Given the description of an element on the screen output the (x, y) to click on. 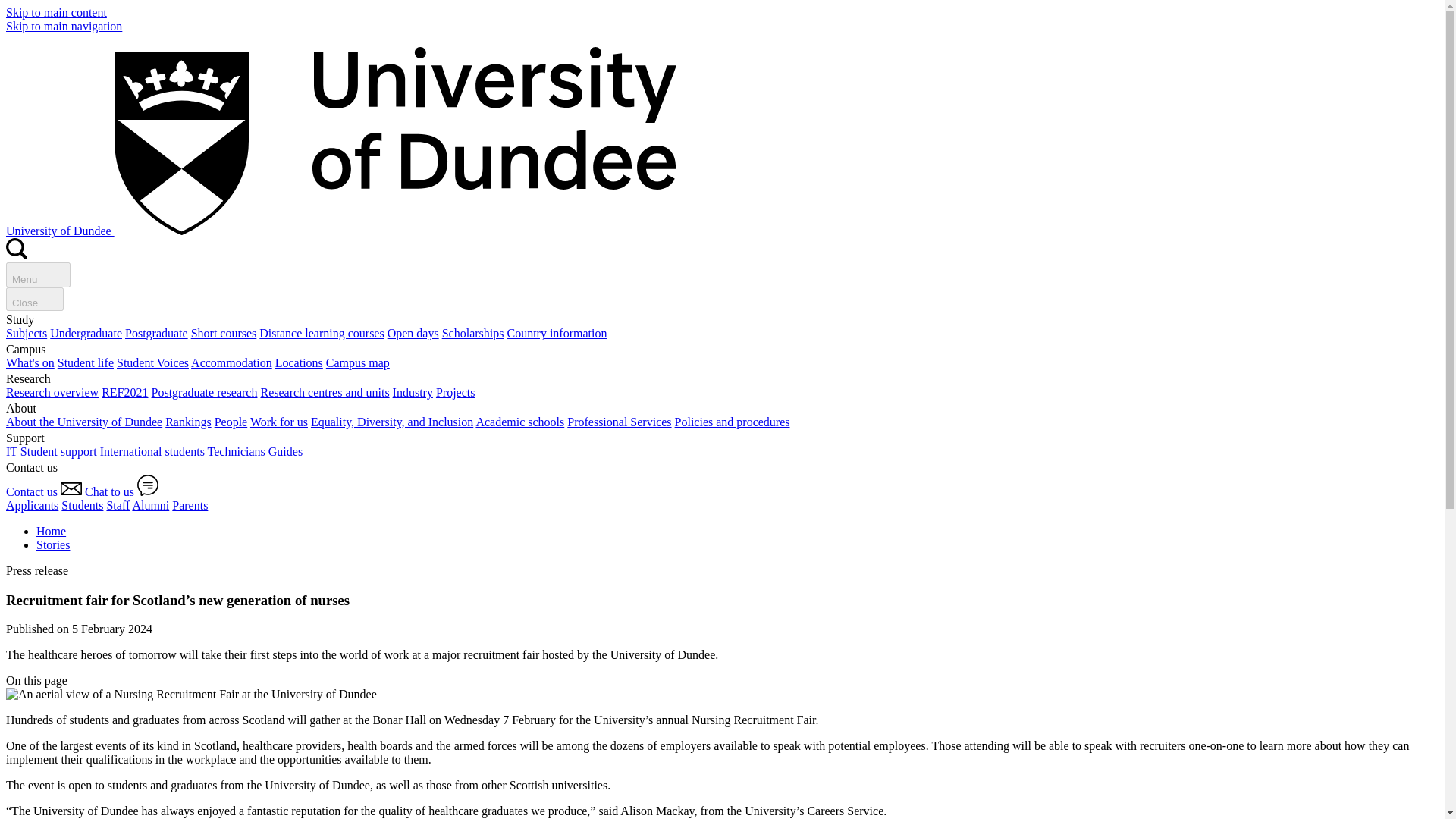
Open days (413, 332)
Find events that are happening at the University of Dundee (30, 362)
Accommodation (231, 362)
Search (16, 248)
Campus map (358, 362)
Skip to main navigation (63, 25)
Distance learning courses (321, 332)
Industry (412, 391)
Work for us (278, 421)
People (230, 421)
Contact us (44, 491)
Close close (34, 299)
Equality, Diversity, and Inclusion (392, 421)
Professional Services (619, 421)
